Given the description of an element on the screen output the (x, y) to click on. 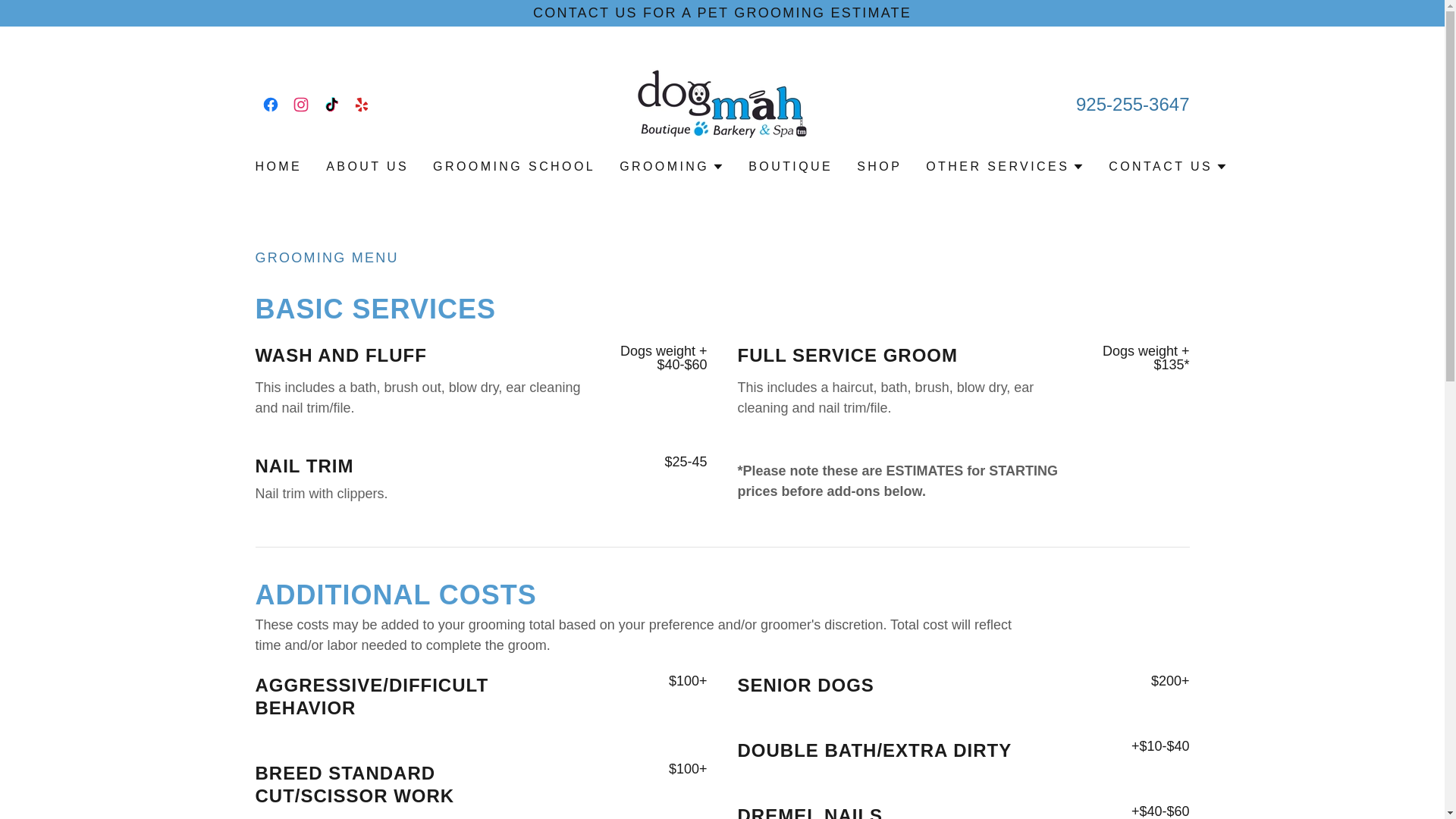
925-255-3647 (1132, 104)
BOUTIQUE (790, 166)
GROOMING SCHOOL (513, 166)
OTHER SERVICES (1005, 167)
GROOMING (671, 167)
SHOP (878, 166)
ABOUT US (367, 166)
CONTACT US (1167, 167)
HOME (277, 166)
